Given the description of an element on the screen output the (x, y) to click on. 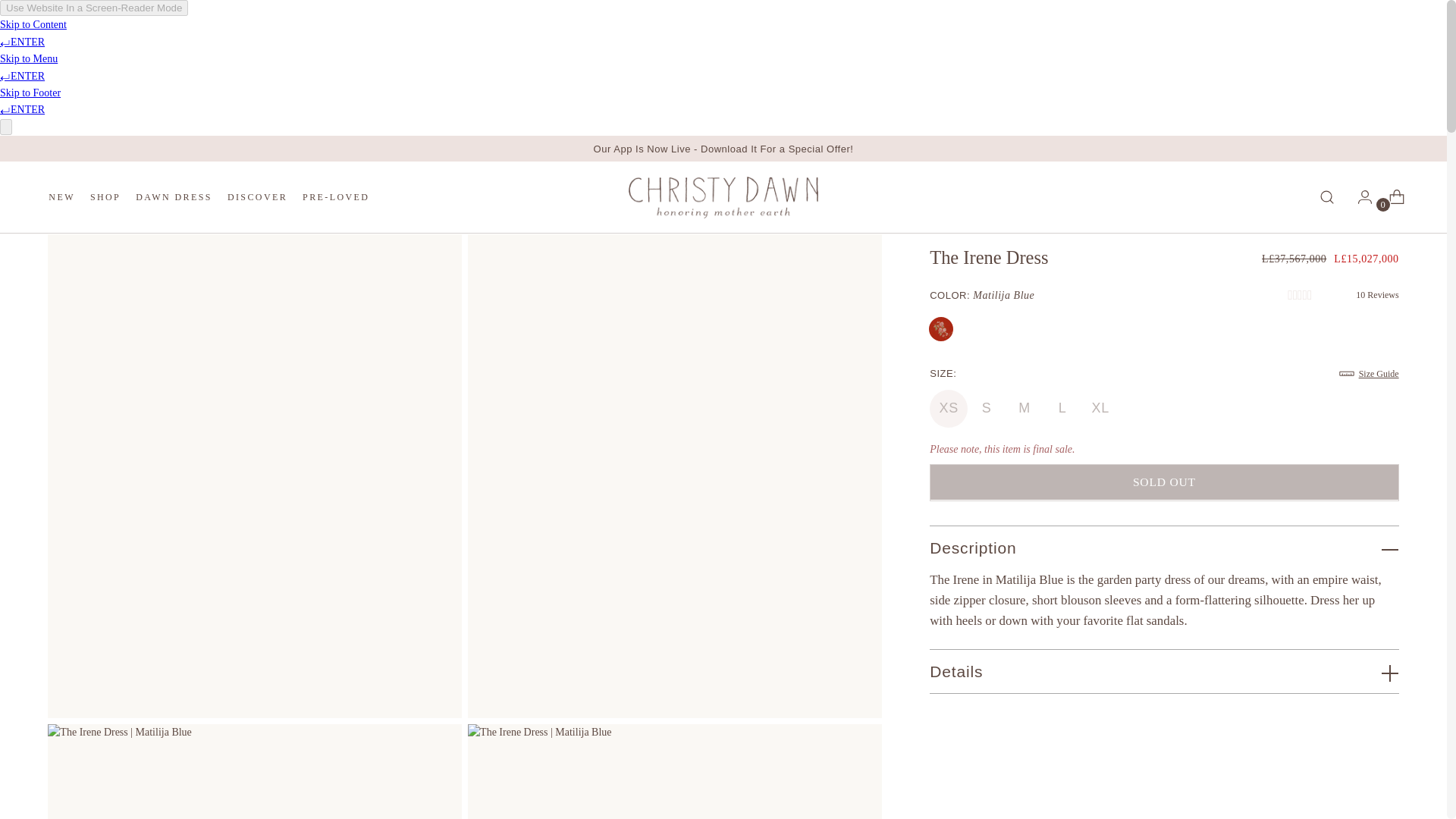
See more Matilija Blue (1002, 294)
DAWN DRESS (208, 196)
Mums Ditsy Ruby (173, 196)
Our App Is Now Live - Download It For a Special Offer! (940, 328)
DISCOVER (723, 148)
PRE-LOVED (256, 196)
SHOP (335, 196)
